Given the description of an element on the screen output the (x, y) to click on. 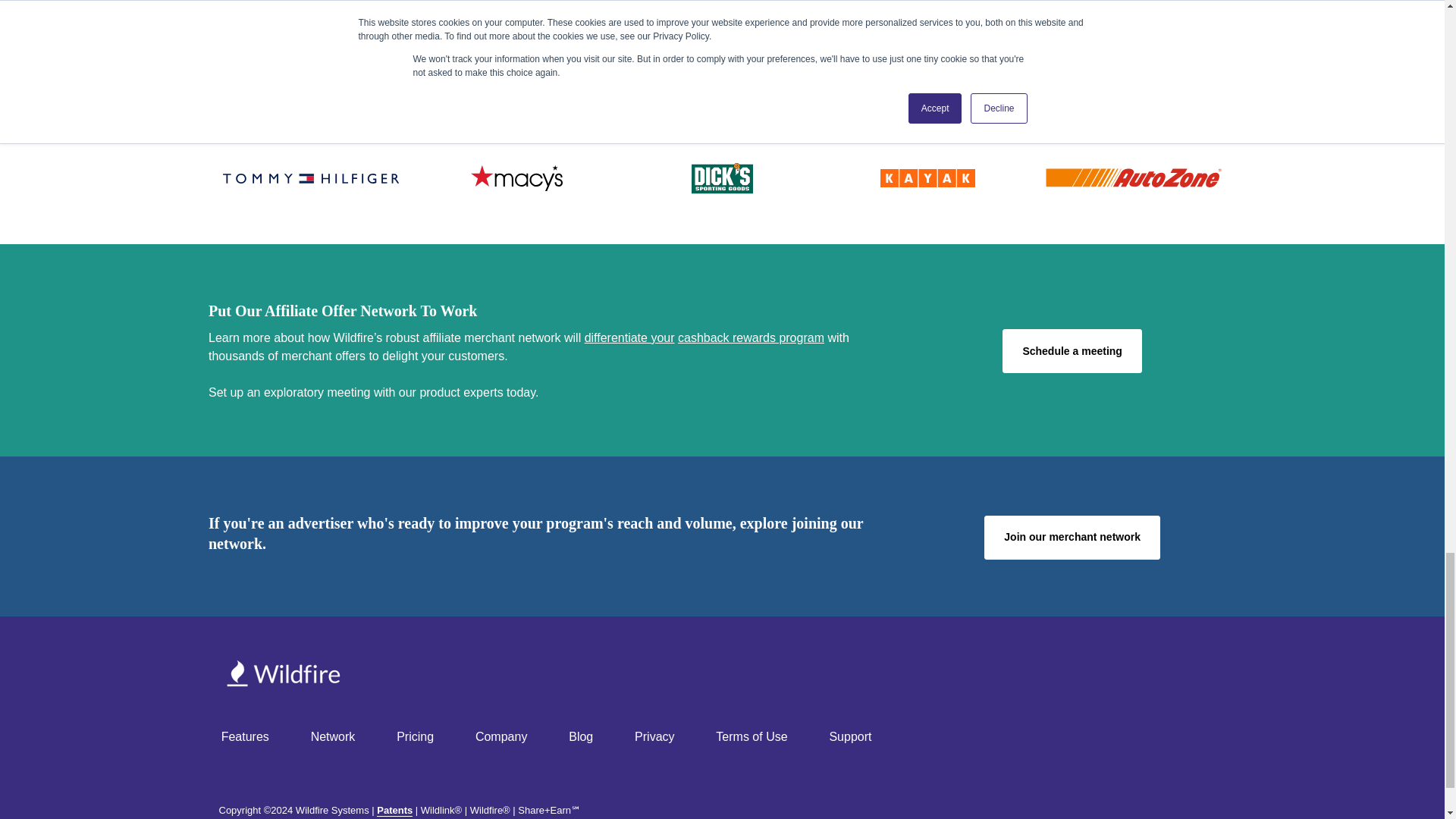
Schedule a meeting (1072, 351)
Join our merchant network (1072, 537)
